Given the description of an element on the screen output the (x, y) to click on. 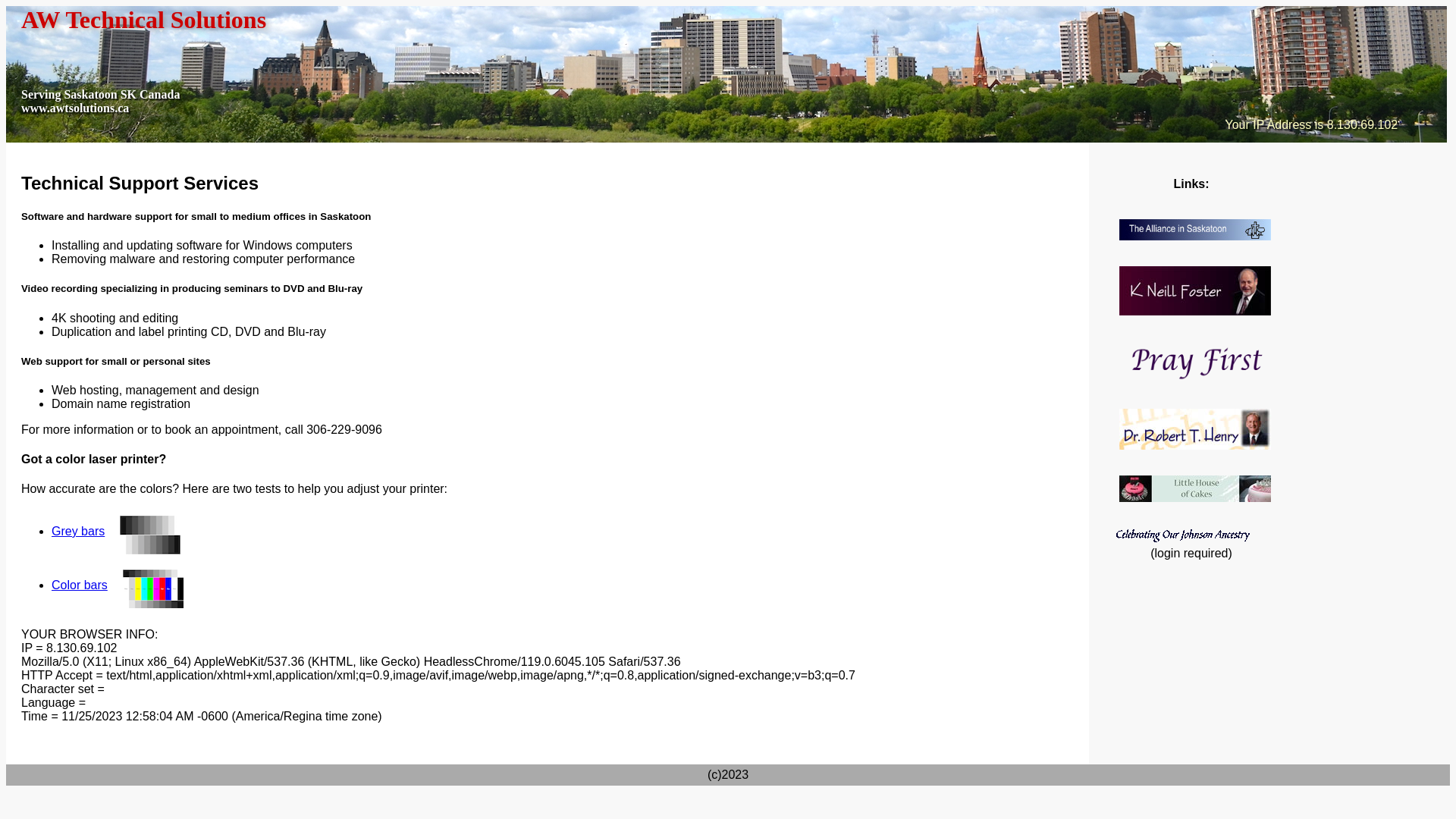
Color bars Element type: text (124, 584)
Grey bars Element type: text (123, 530)
